Given the description of an element on the screen output the (x, y) to click on. 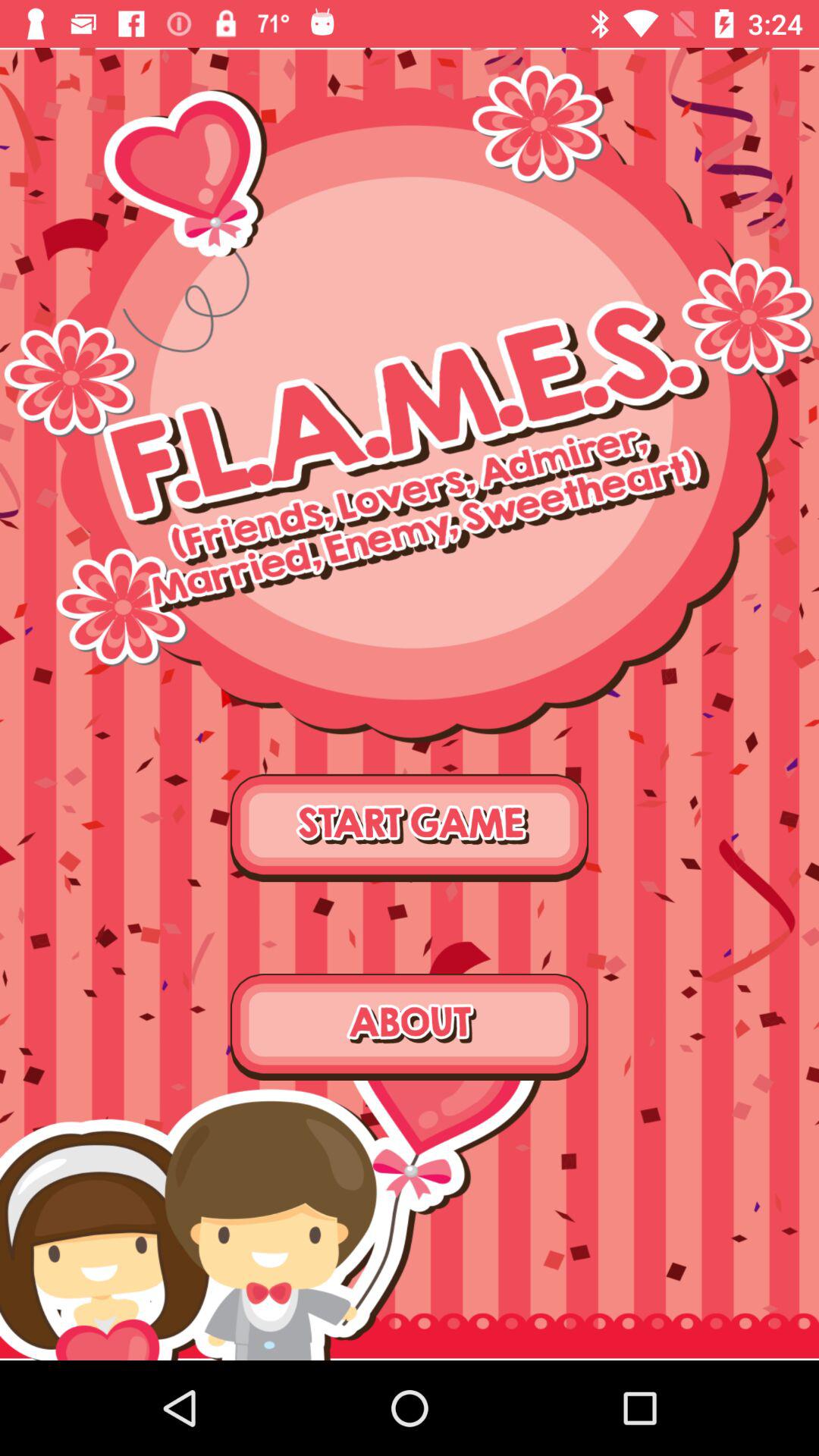
start game (409, 827)
